Given the description of an element on the screen output the (x, y) to click on. 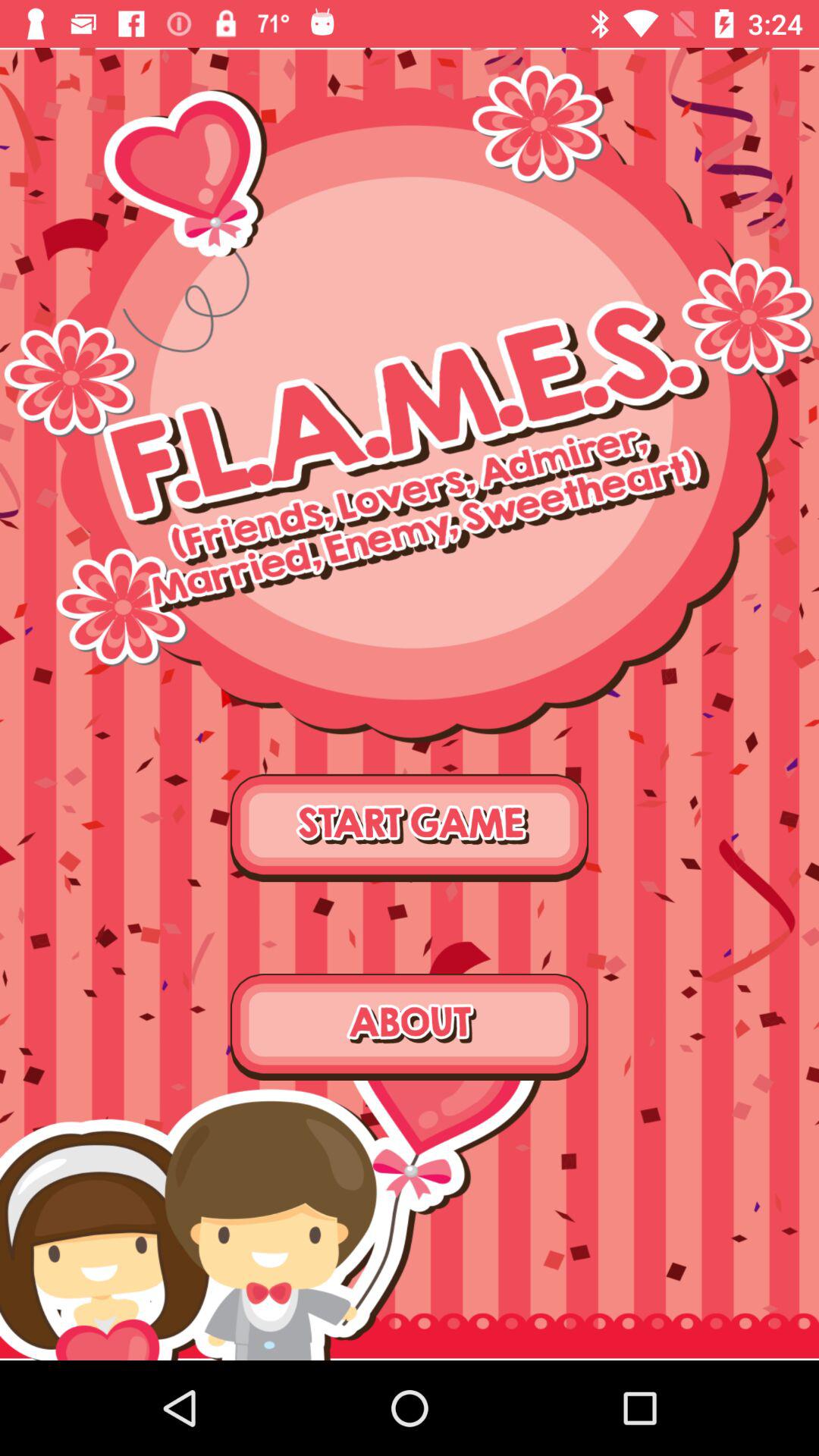
start game (409, 827)
